Given the description of an element on the screen output the (x, y) to click on. 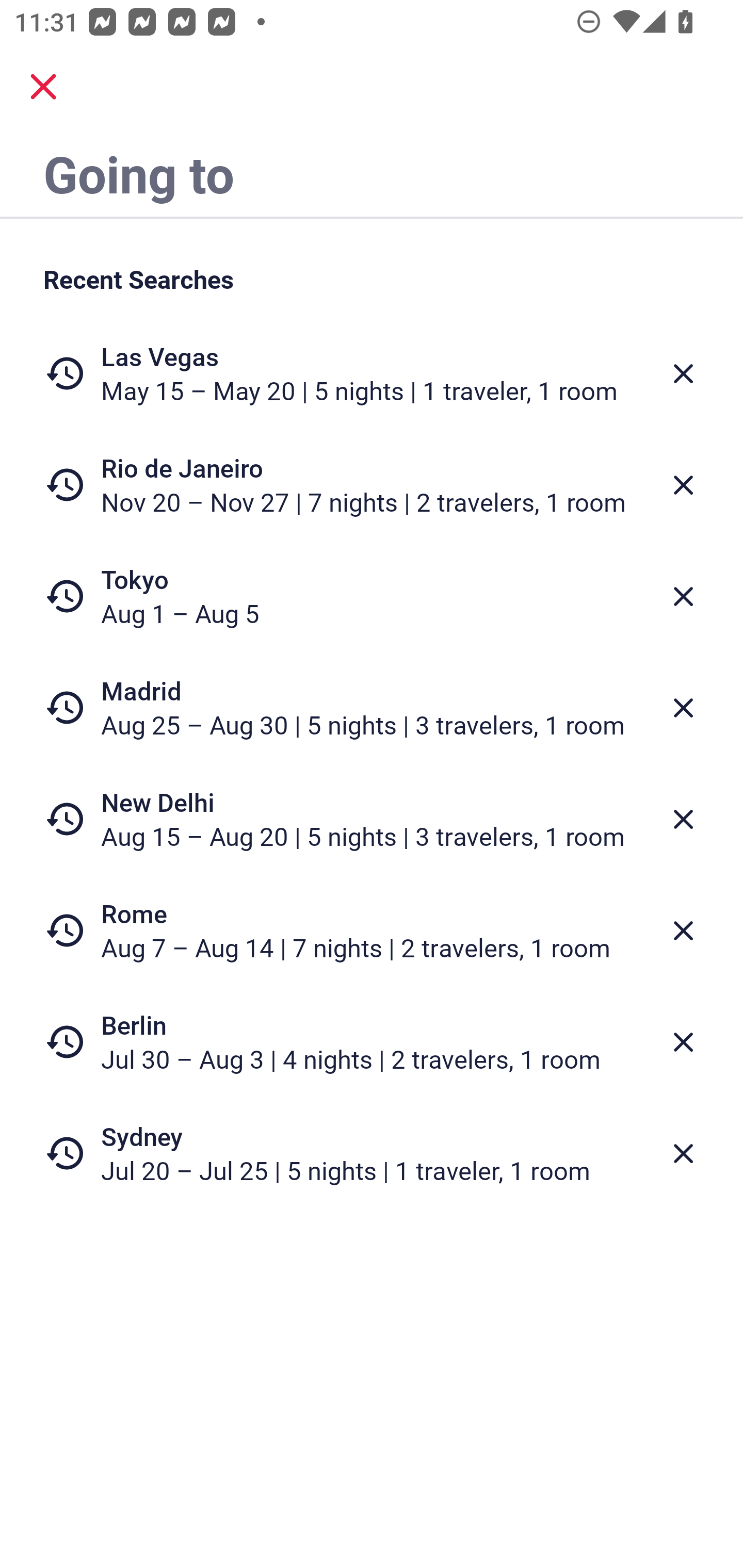
close. (43, 86)
Delete from recent searches (683, 373)
Delete from recent searches (683, 485)
Tokyo Aug 1 – Aug 5 (371, 596)
Delete from recent searches (683, 596)
Delete from recent searches (683, 707)
Delete from recent searches (683, 819)
Delete from recent searches (683, 930)
Delete from recent searches (683, 1041)
Delete from recent searches (683, 1153)
